Given the description of an element on the screen output the (x, y) to click on. 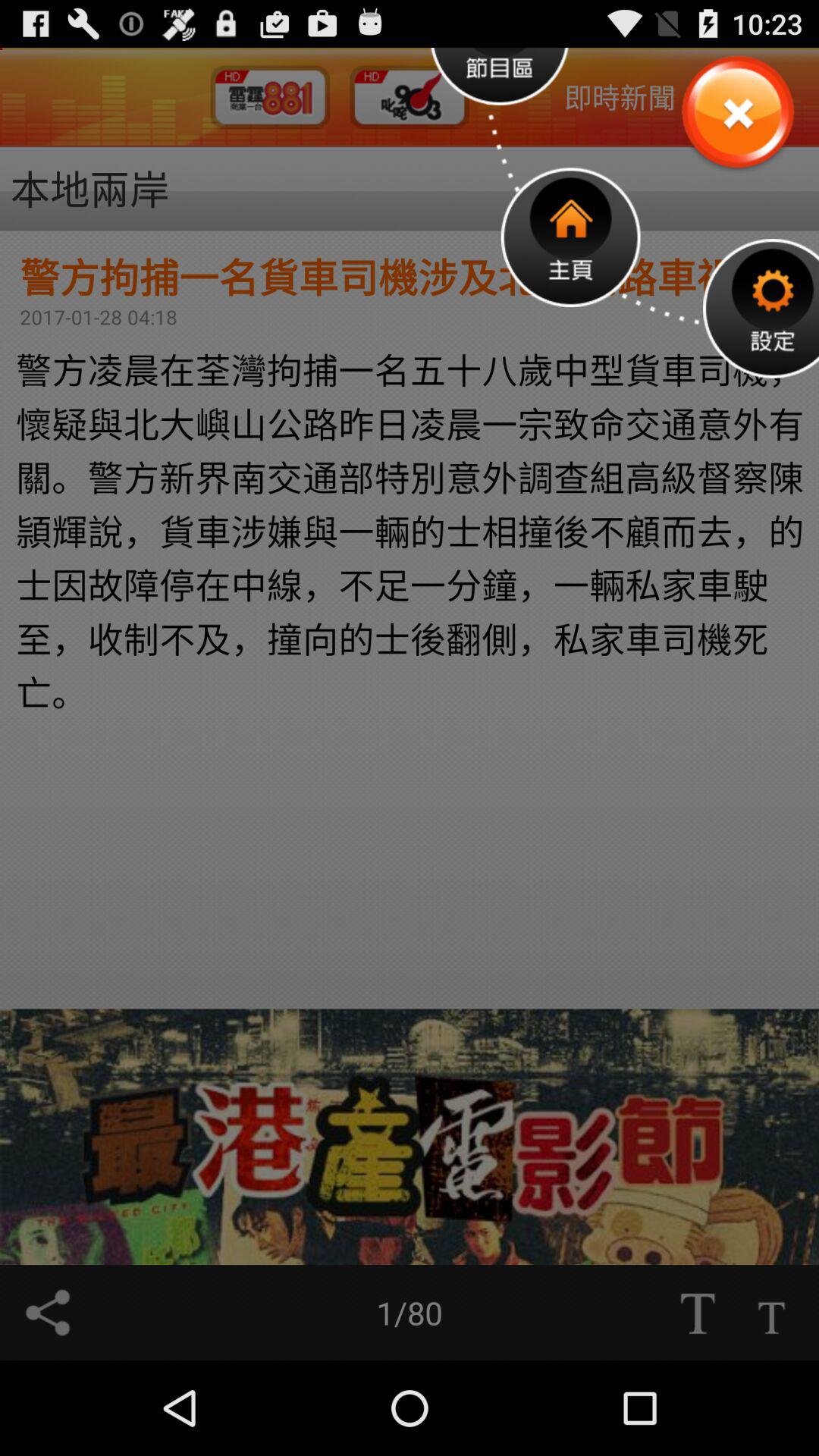
close (737, 113)
